Given the description of an element on the screen output the (x, y) to click on. 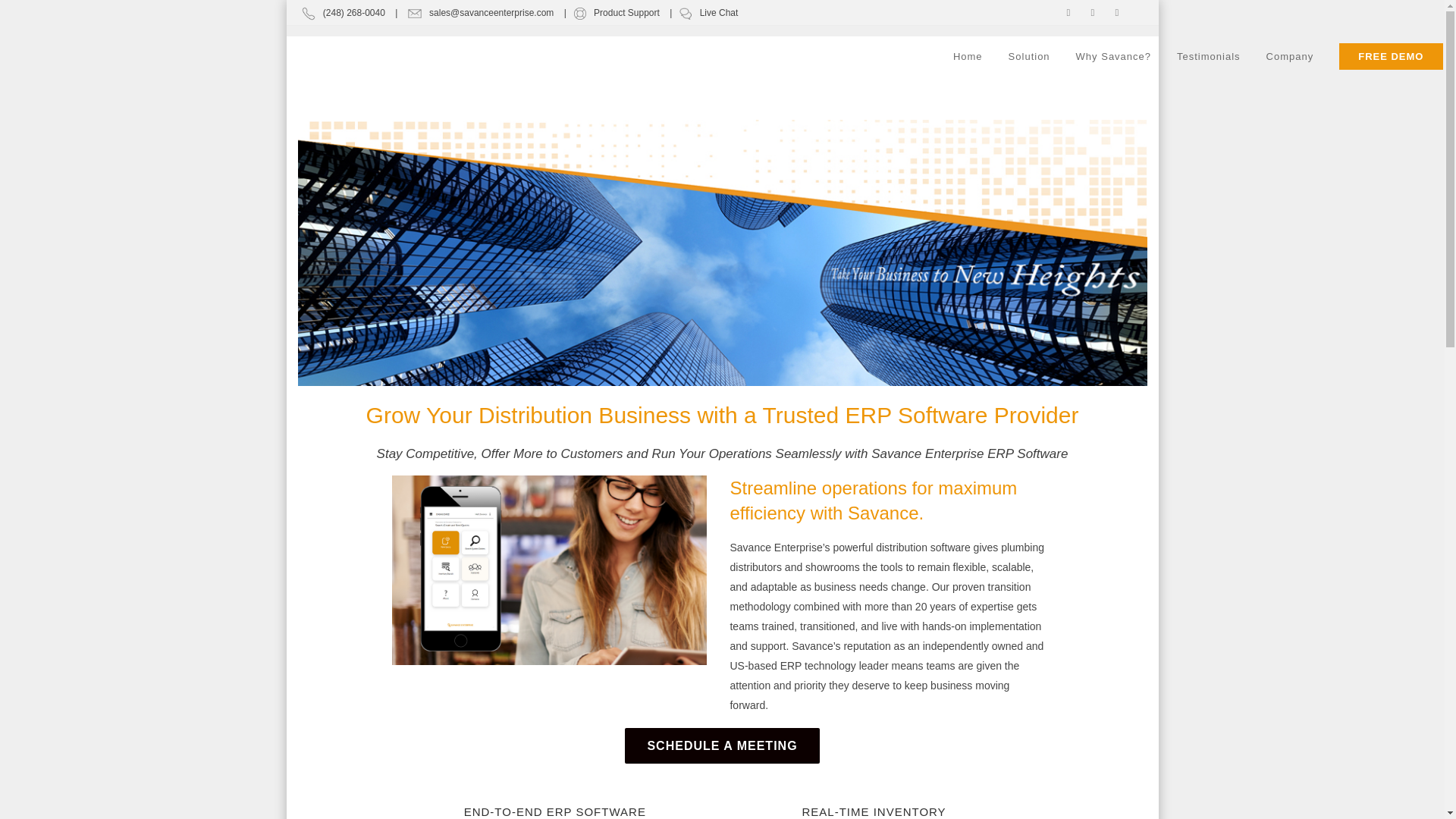
Solution (1028, 56)
Why Savance? (1112, 56)
Testimonials (1208, 56)
Home (967, 56)
Live Chat (717, 12)
 Product Support (616, 12)
Company (1289, 56)
